Given the description of an element on the screen output the (x, y) to click on. 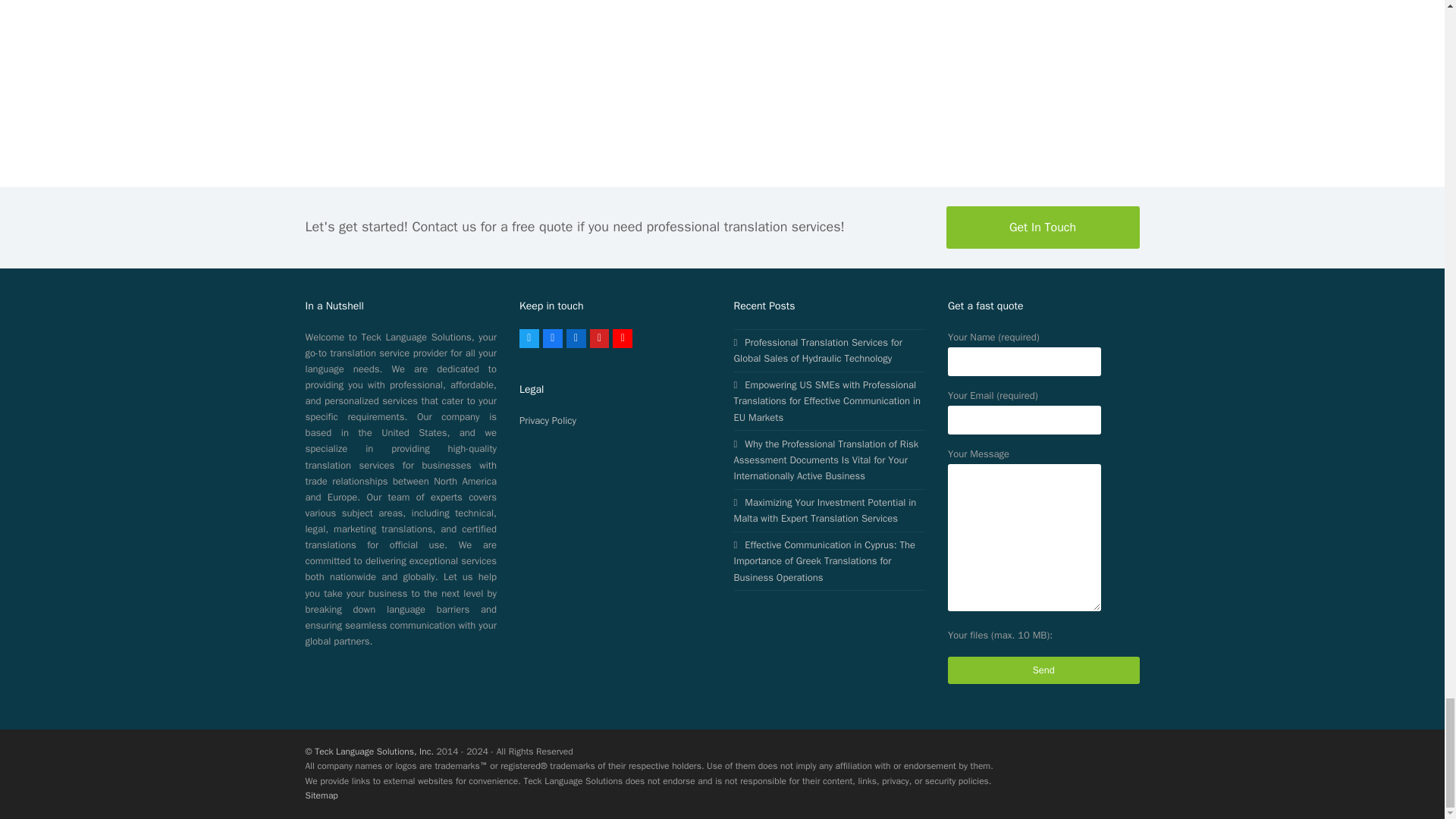
Twitter (528, 338)
Send (1043, 669)
Facebook (552, 338)
Yelp (599, 338)
LinkedIn (576, 338)
